Given the description of an element on the screen output the (x, y) to click on. 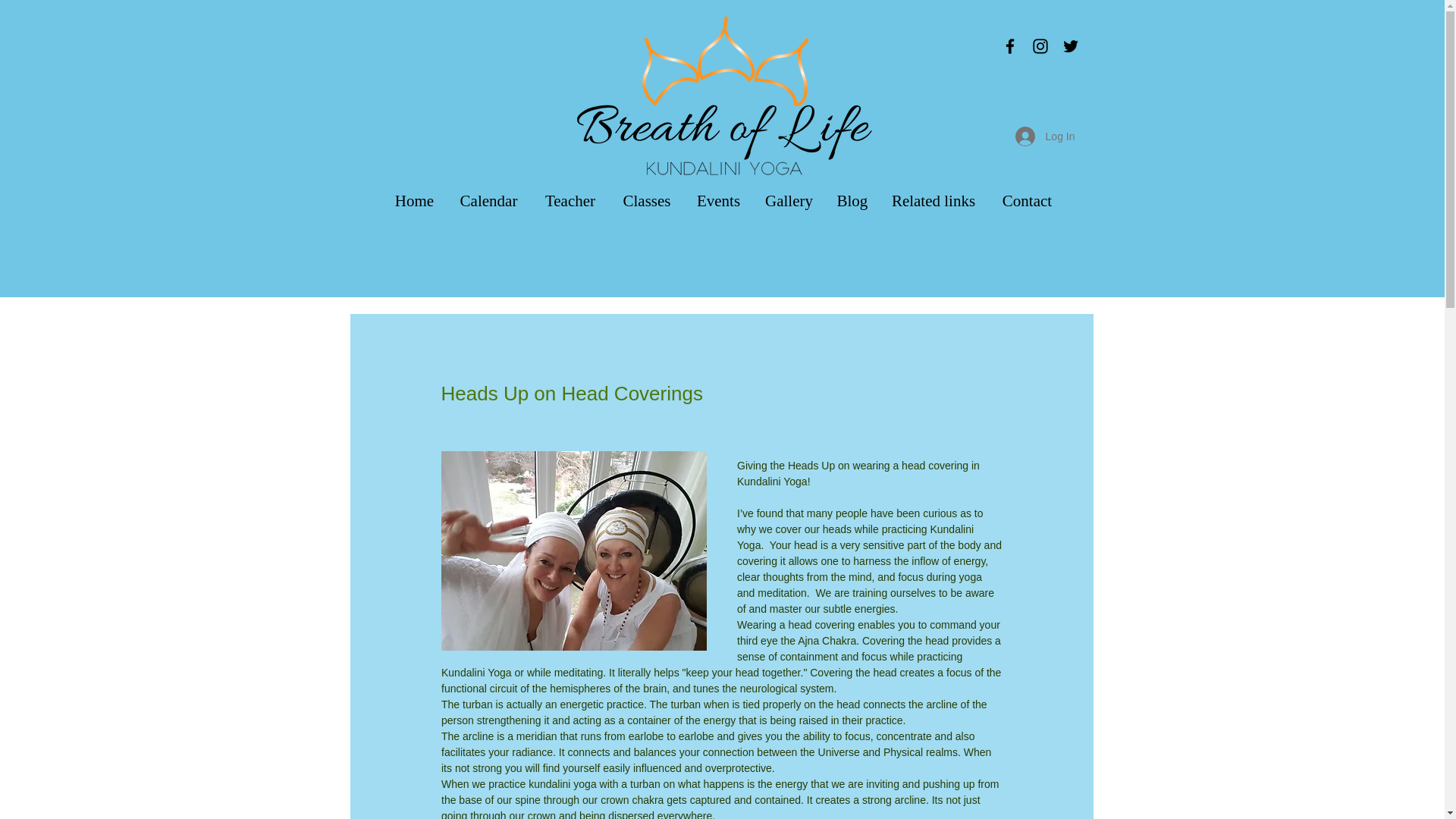
Classes (647, 201)
Teacher (569, 201)
Log In (1045, 136)
Gallery (788, 201)
Home (413, 201)
Blog (851, 201)
Calendar (488, 201)
Contact (1026, 201)
Related links (933, 201)
Events (718, 201)
